Given the description of an element on the screen output the (x, y) to click on. 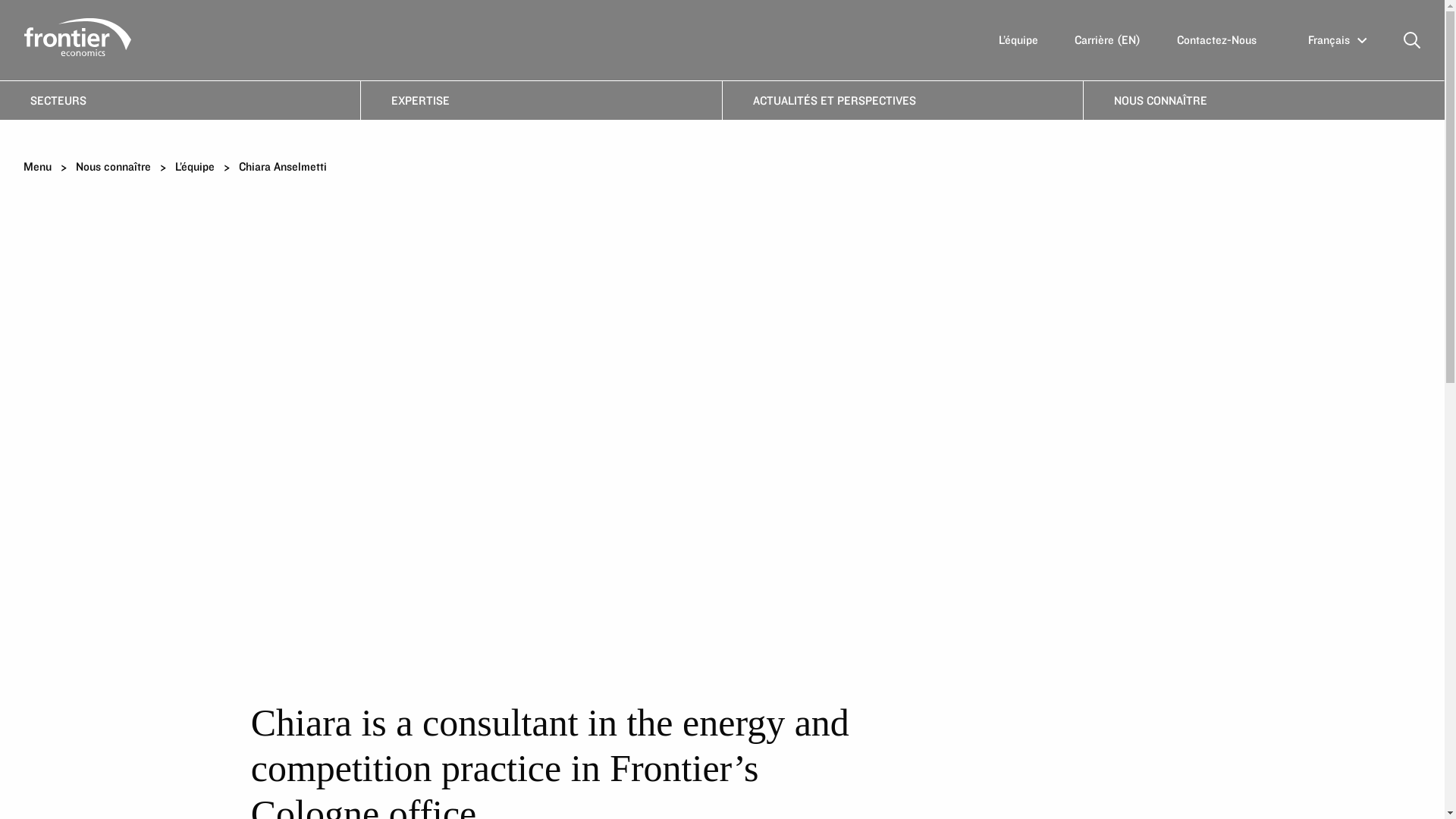
EXPERTISE (541, 99)
Contactez-Nous (1216, 39)
SECTEURS (180, 99)
